Given the description of an element on the screen output the (x, y) to click on. 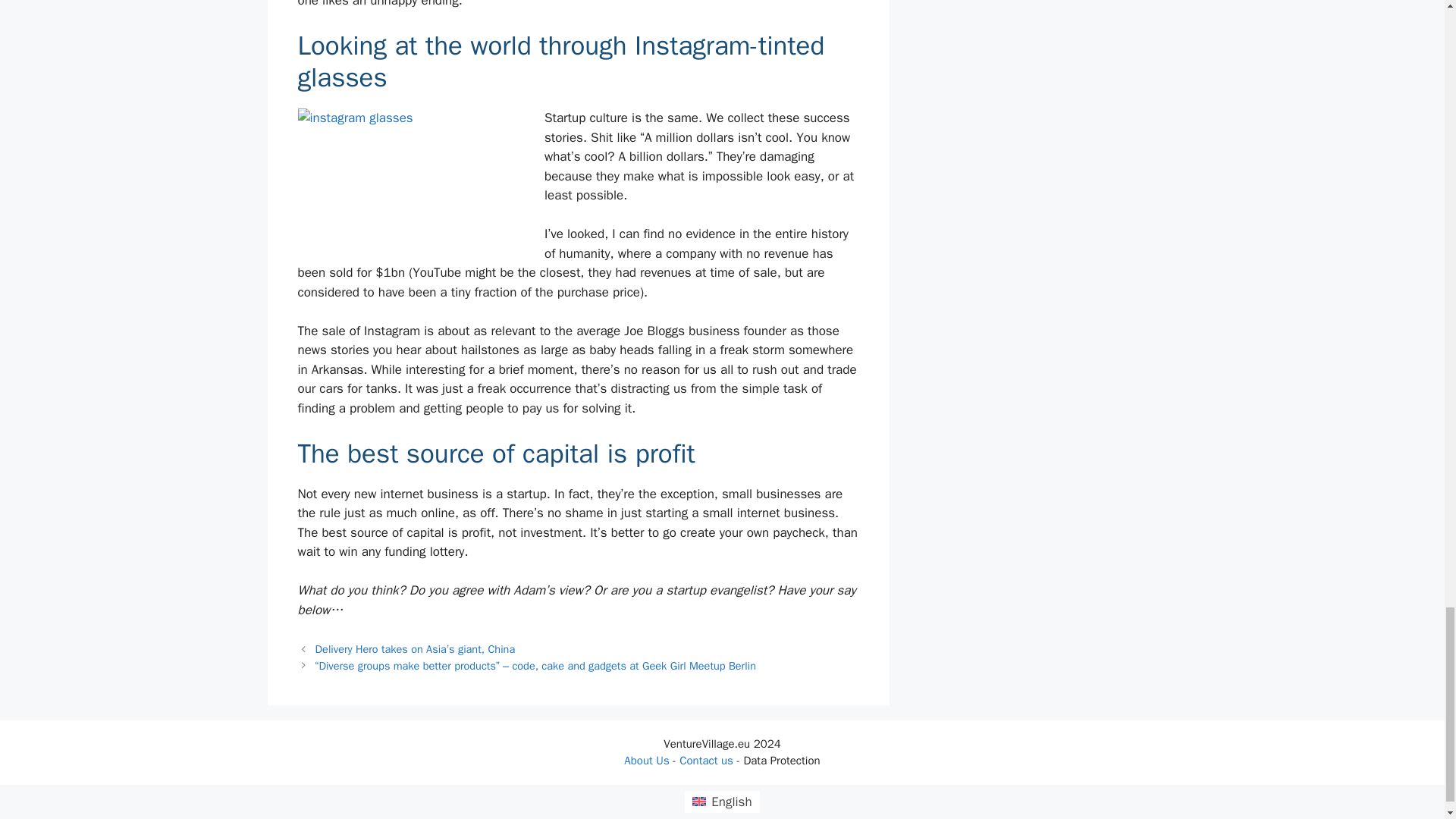
About Us (646, 760)
instagram glasses (410, 179)
English (721, 802)
Contact us (706, 760)
